Given the description of an element on the screen output the (x, y) to click on. 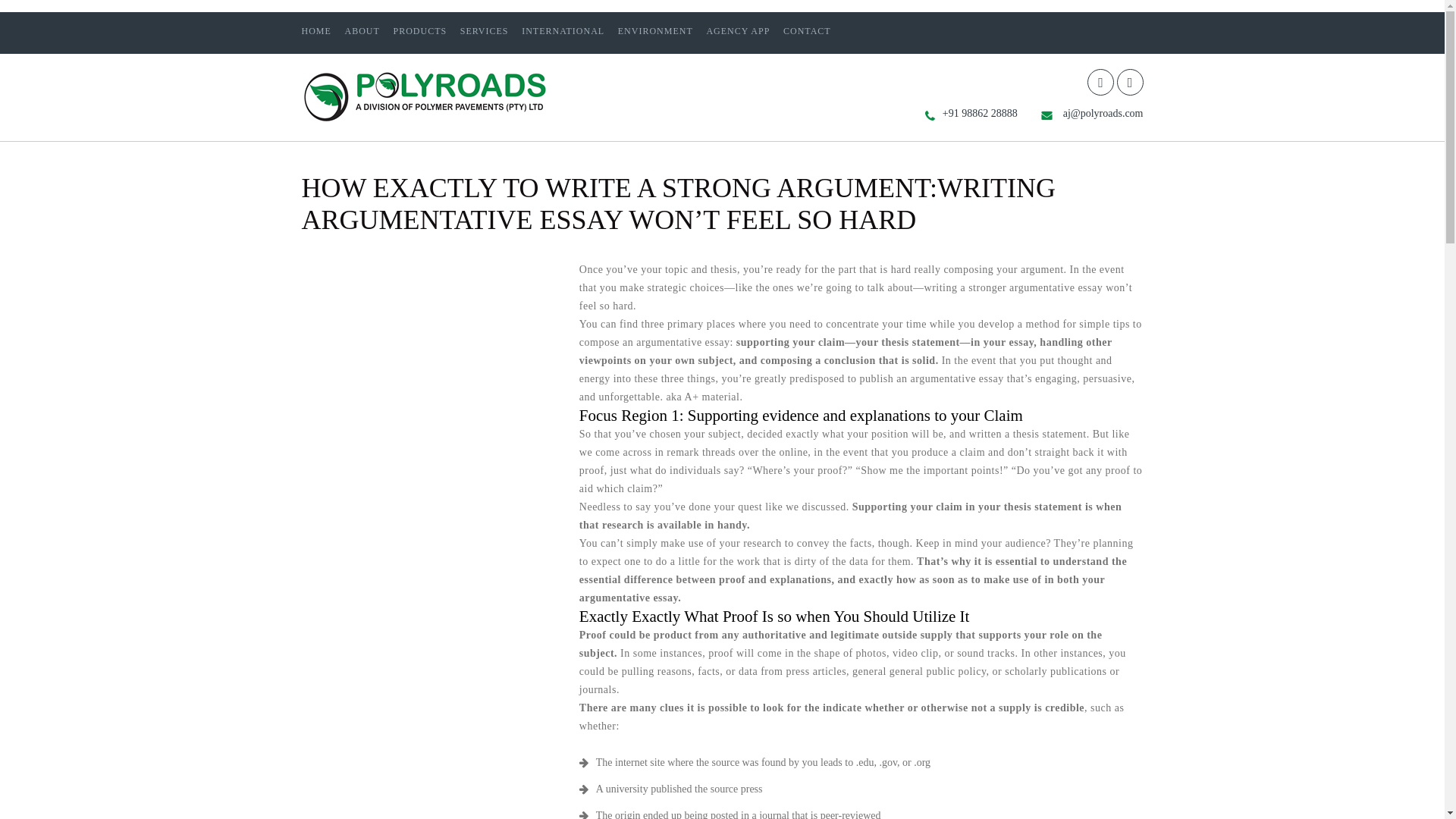
SERVICES (484, 30)
PRODUCTS (419, 30)
AGENCY APP (738, 30)
HOME (316, 30)
Poly Roads (425, 119)
ENVIRONMENT (655, 30)
ABOUT (360, 30)
INTERNATIONAL (562, 30)
CONTACT (807, 30)
